Given the description of an element on the screen output the (x, y) to click on. 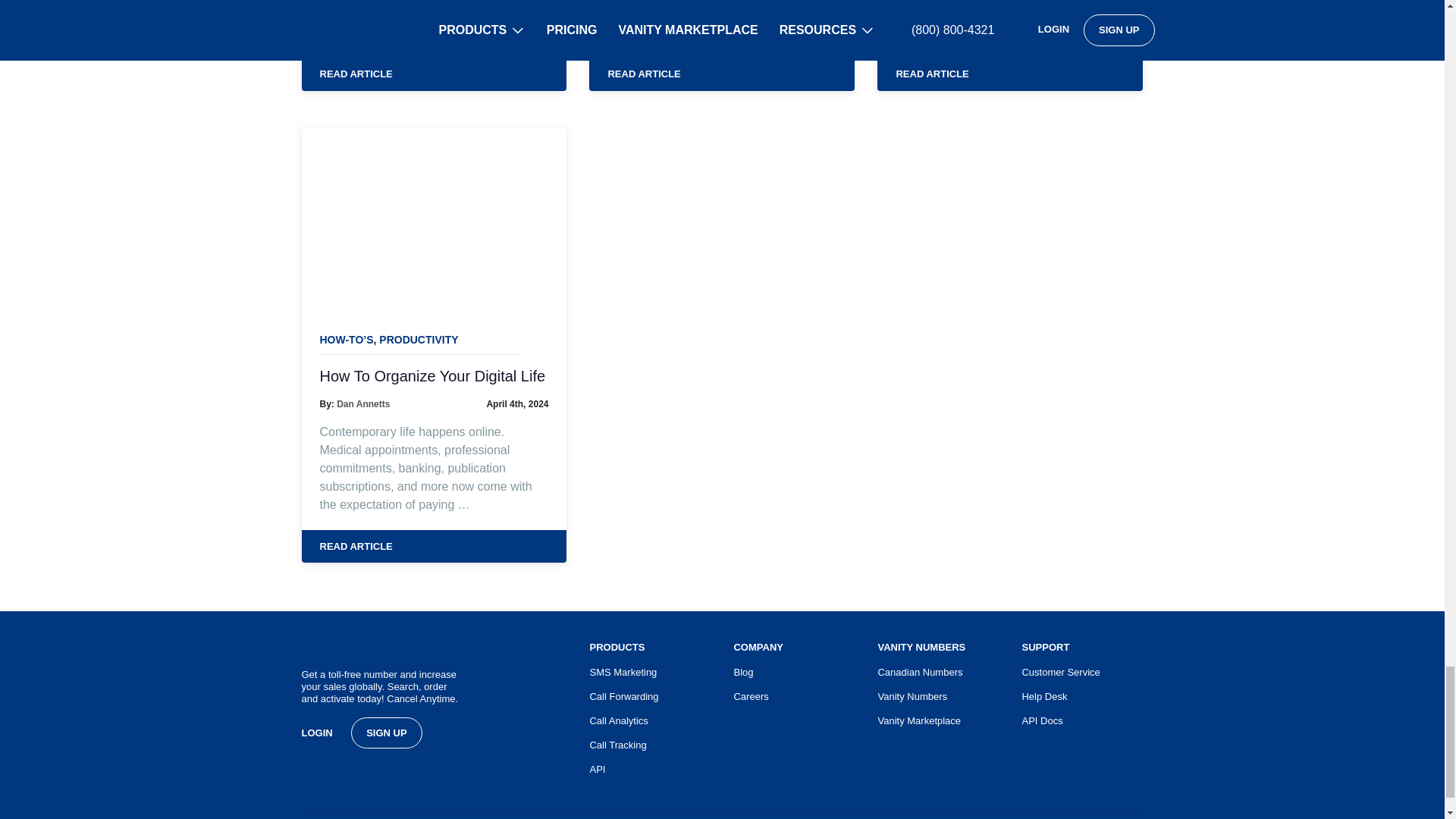
Posts by Dan Annetts (363, 403)
